Given the description of an element on the screen output the (x, y) to click on. 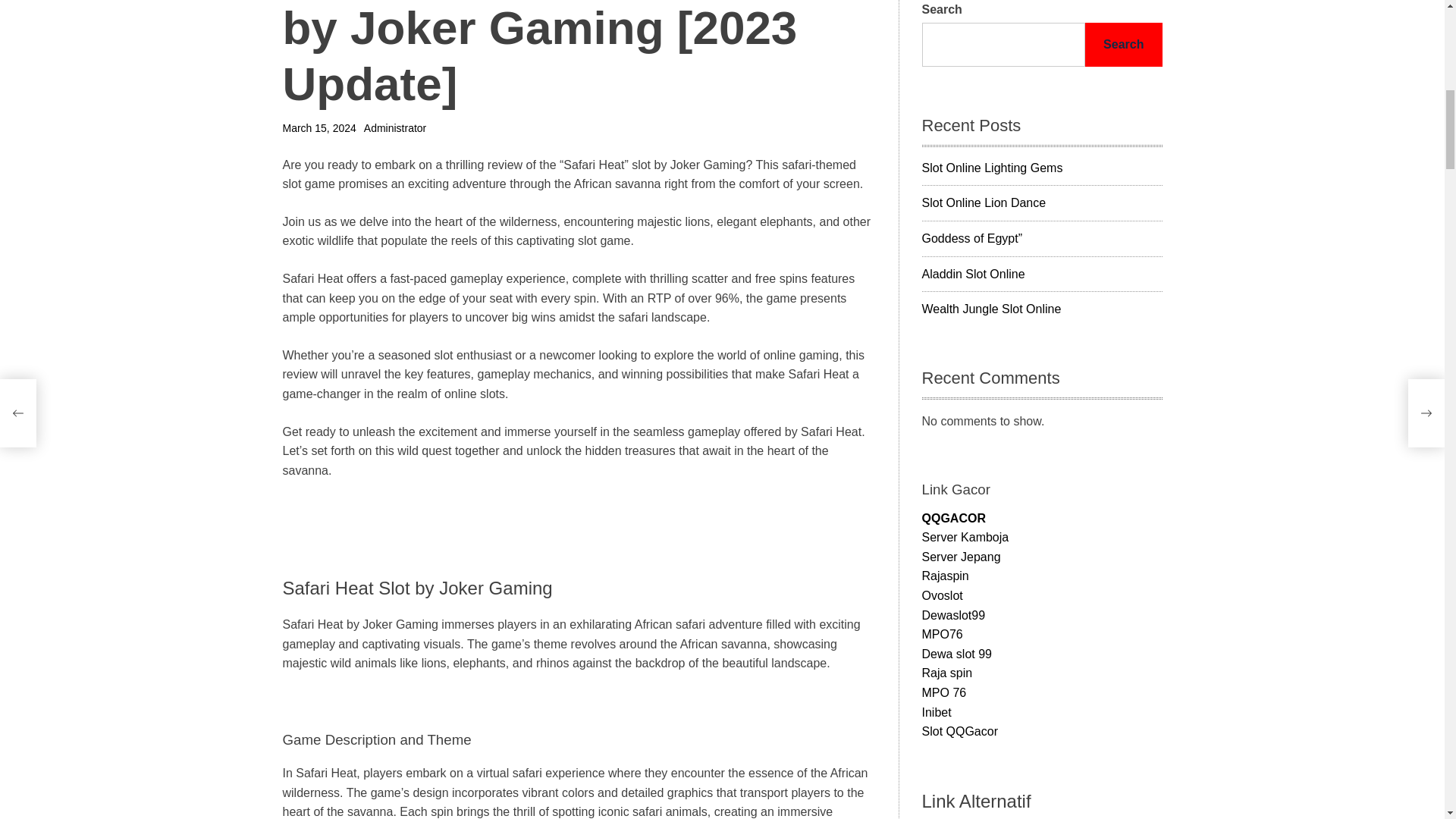
Administrator (395, 128)
March 15, 2024 (318, 127)
